Given the description of an element on the screen output the (x, y) to click on. 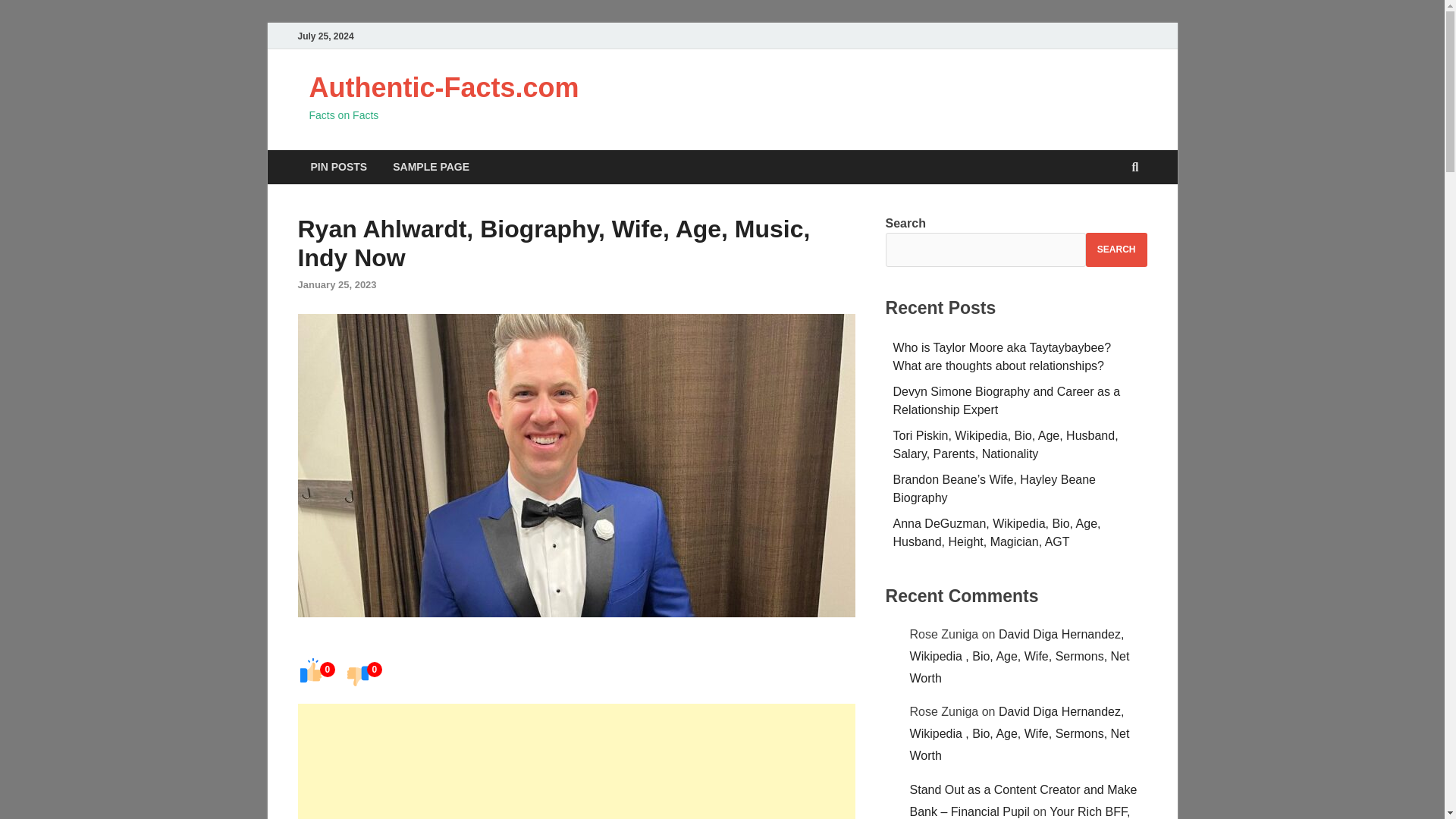
SAMPLE PAGE (430, 166)
Authentic-Facts.com (443, 87)
January 25, 2023 (336, 284)
Devyn Simone Biography and Career as a Relationship Expert (1007, 400)
Advertisement (575, 761)
SEARCH (1116, 249)
PIN POSTS (338, 166)
